Given the description of an element on the screen output the (x, y) to click on. 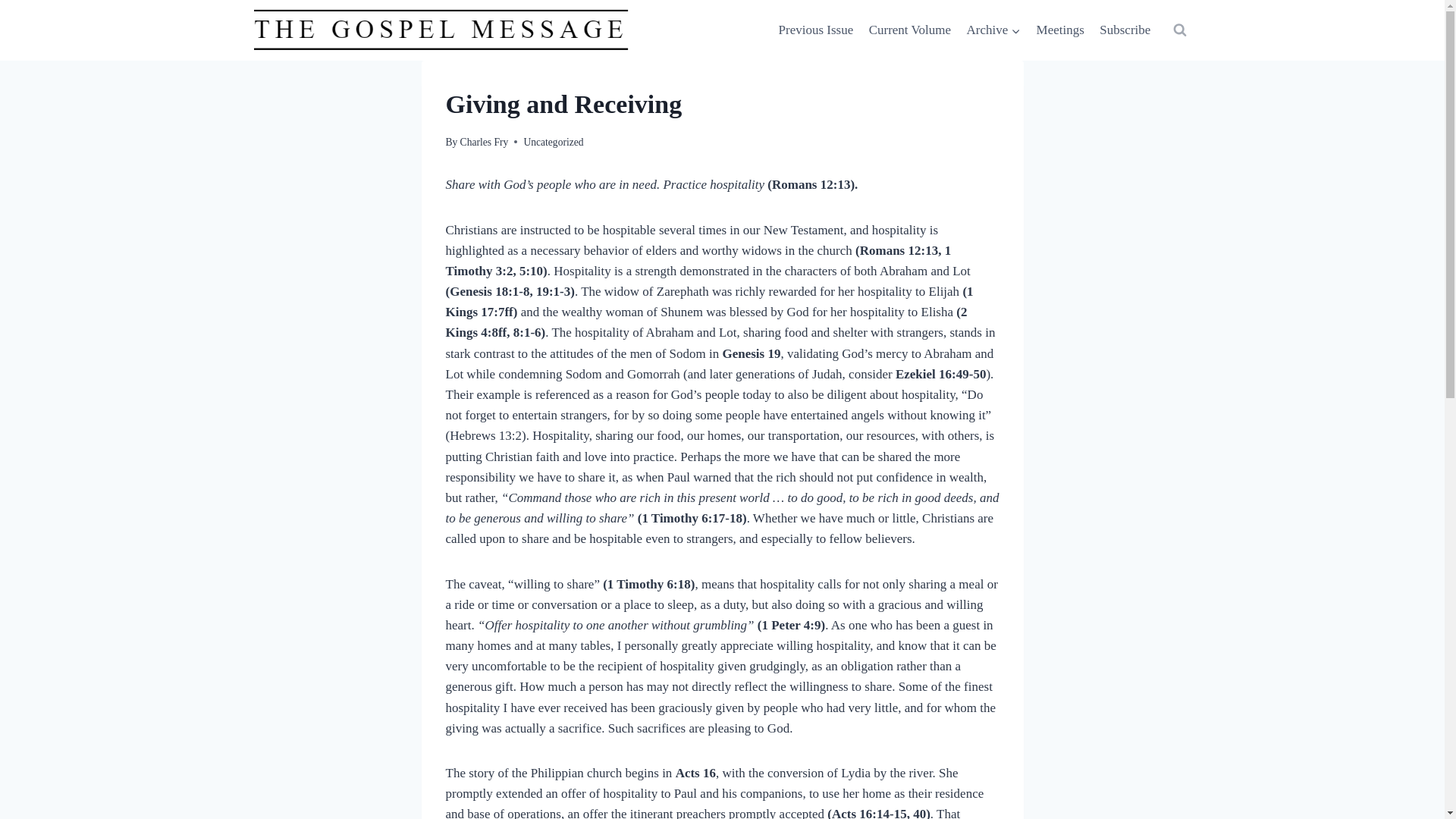
Meetings (1059, 30)
Uncategorized (552, 142)
Charles Fry (484, 142)
Current Volume (909, 30)
Subscribe (1124, 30)
Previous Issue (815, 30)
Archive (992, 30)
